Given the description of an element on the screen output the (x, y) to click on. 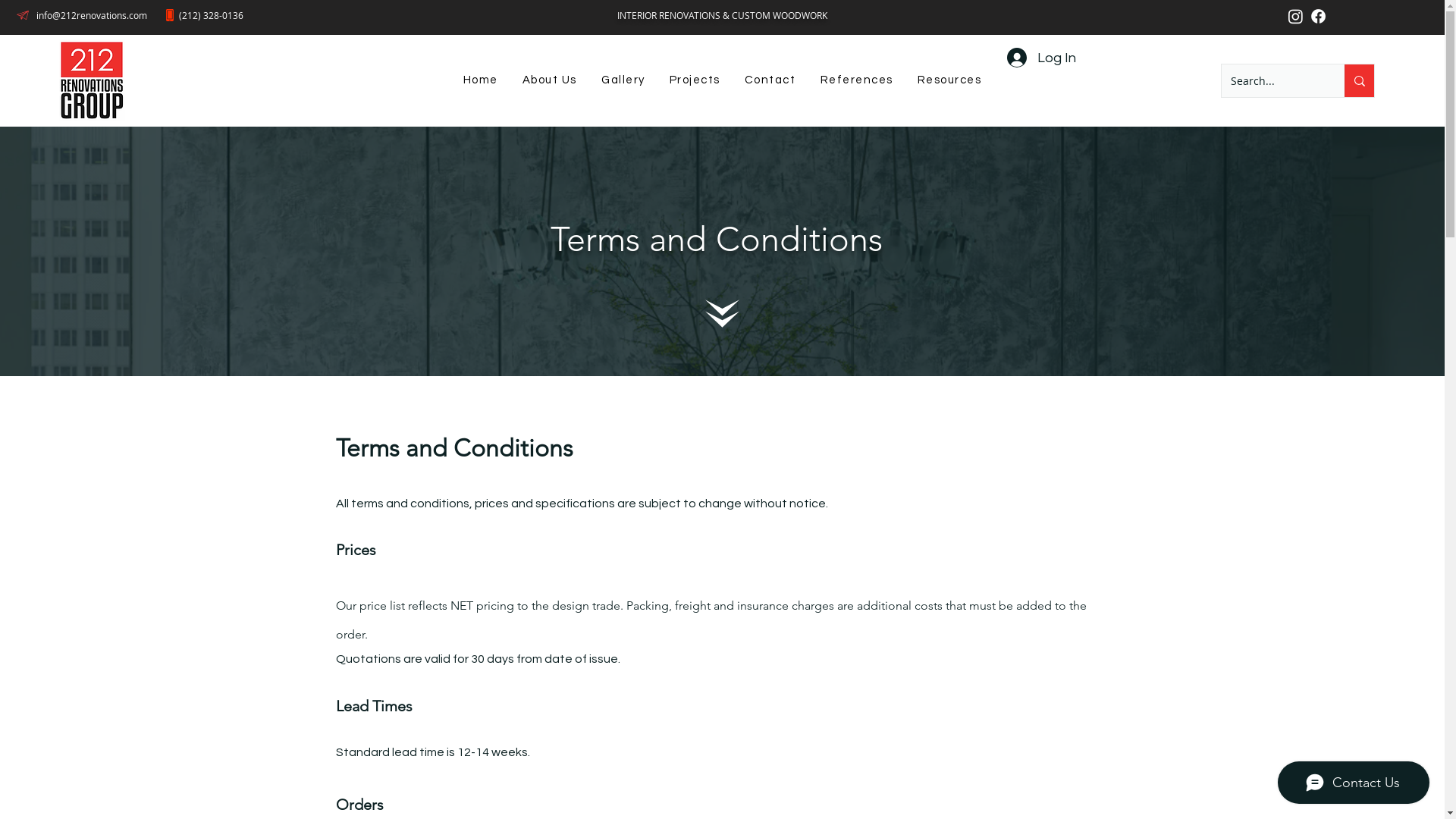
info@212renovations.com Element type: text (91, 15)
(212) 328-0136 Element type: text (210, 15)
References Element type: text (856, 80)
Projects Element type: text (694, 80)
newlogonavigation-12-600x733 (2).png Element type: hover (92, 80)
About Us Element type: text (549, 80)
Gallery Element type: text (623, 80)
Home Element type: text (479, 80)
Log In Element type: text (1041, 58)
Resources Element type: text (949, 80)
Contact Element type: text (770, 80)
